Given the description of an element on the screen output the (x, y) to click on. 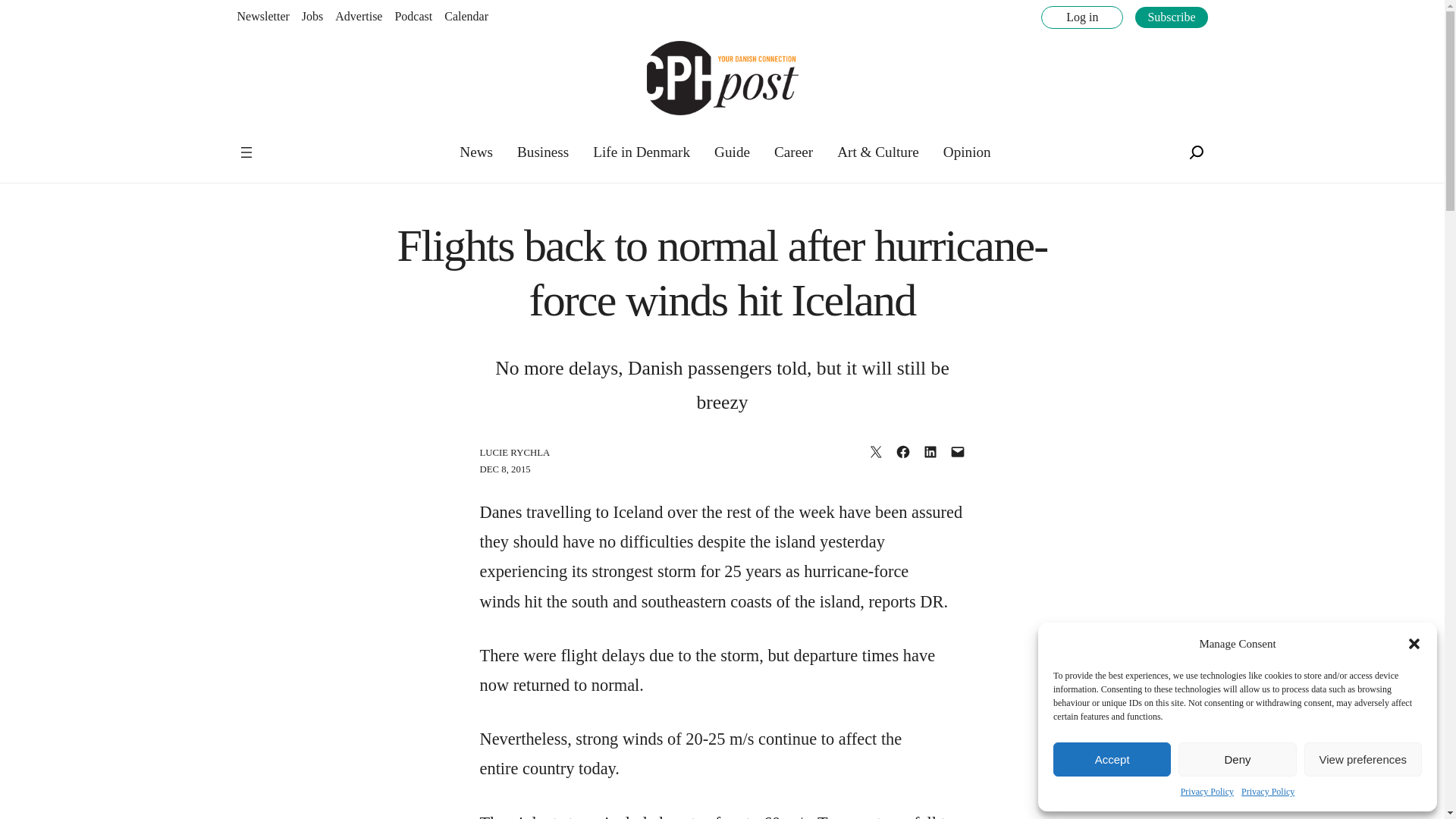
View preferences (1363, 759)
Privacy Policy (1267, 791)
Deny (1236, 759)
The Copenhagen Post (284, 143)
Privacy Policy (1206, 791)
Accept (1111, 759)
